Given the description of an element on the screen output the (x, y) to click on. 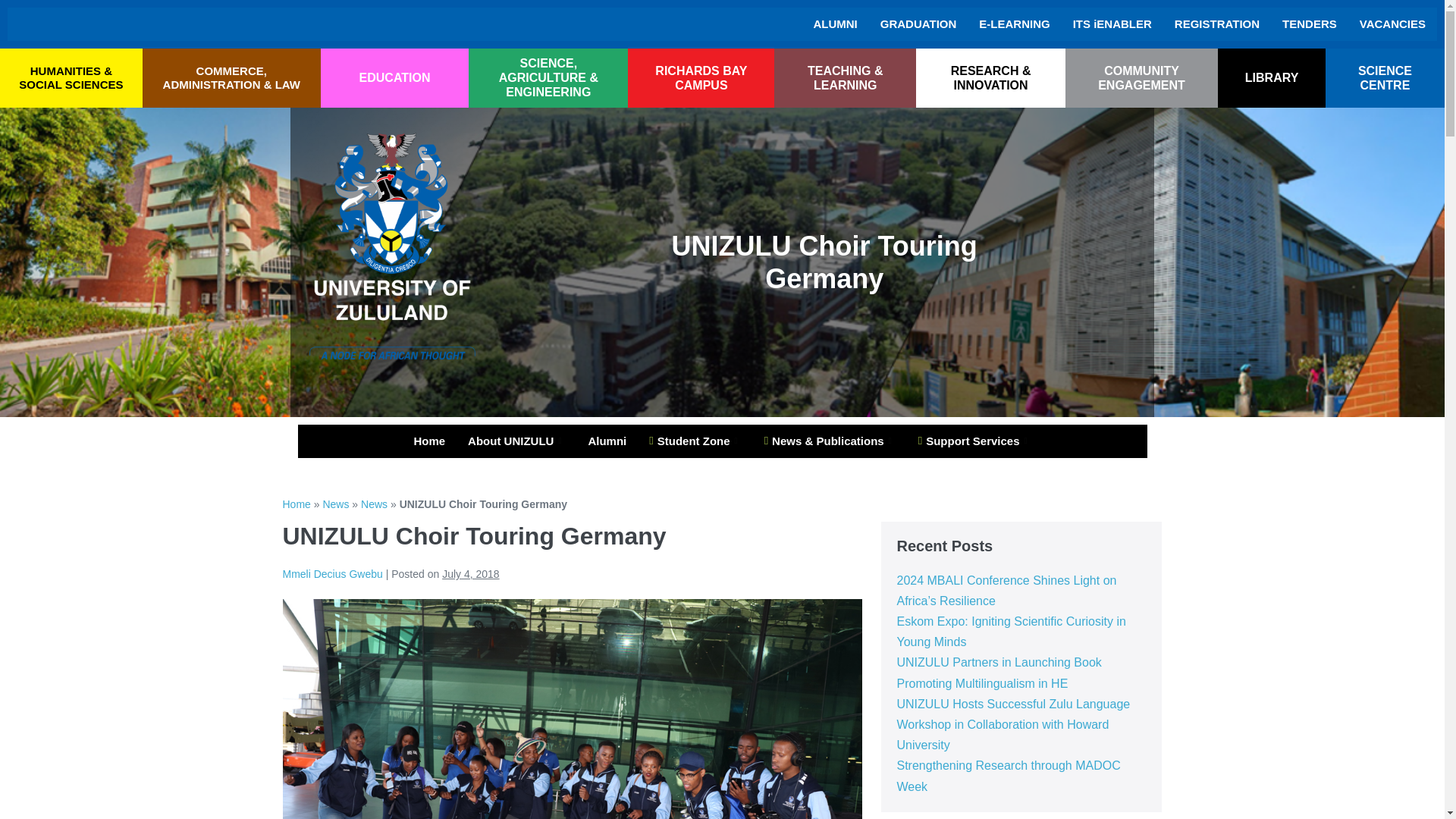
ALUMNI (834, 23)
VACANCIES (1392, 23)
ITS iENABLER (1112, 23)
TENDERS (1309, 23)
RICHARDS BAY CAMPUS (700, 77)
GRADUATION (918, 23)
EDUCATION (394, 77)
LIBRARY (1271, 77)
View all posts by Mmeli Decius Gwebu (331, 573)
REGISTRATION (1217, 23)
